Given the description of an element on the screen output the (x, y) to click on. 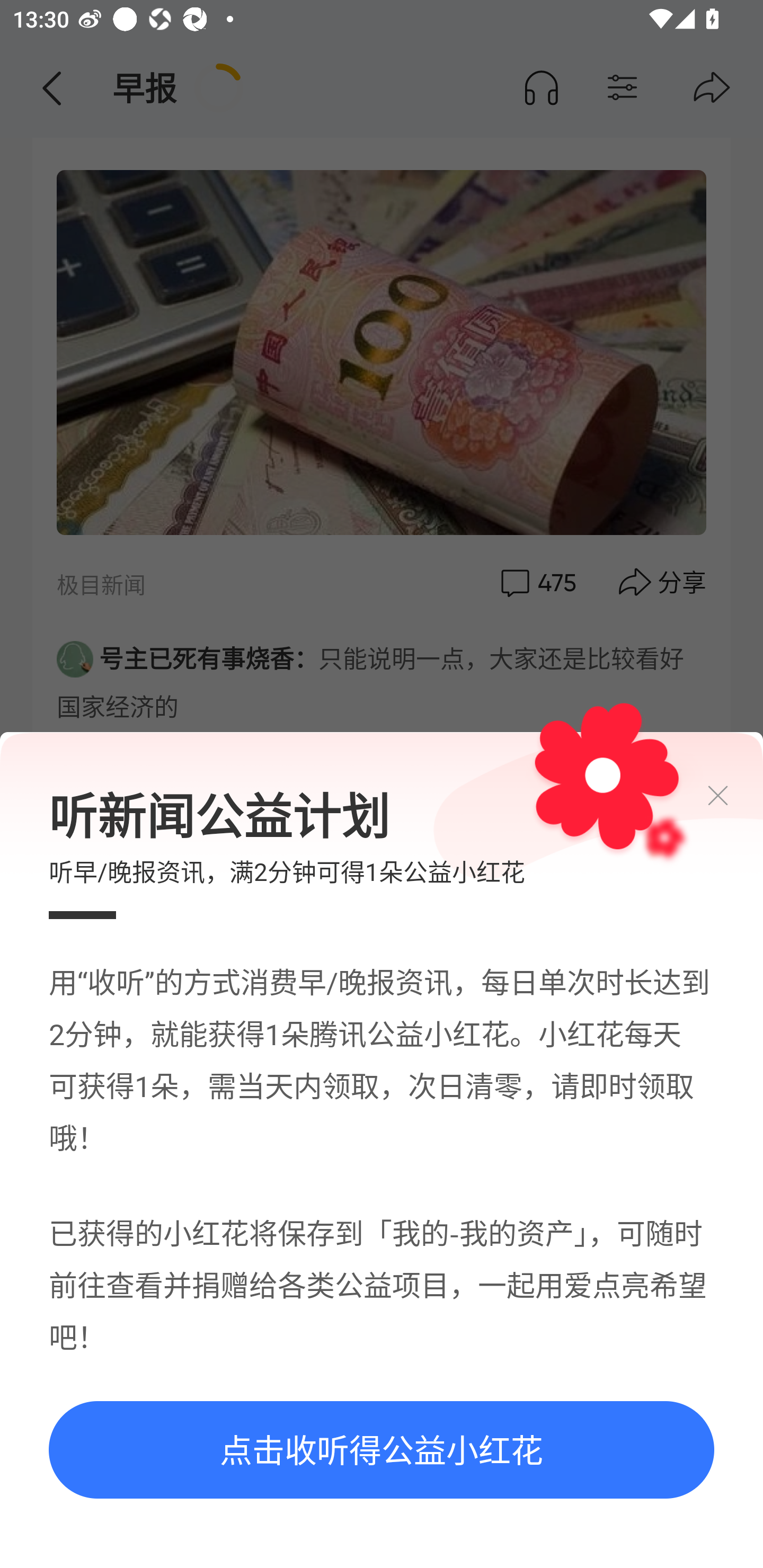
 (733, 795)
点击收听得公益小红花 (381, 1450)
